Given the description of an element on the screen output the (x, y) to click on. 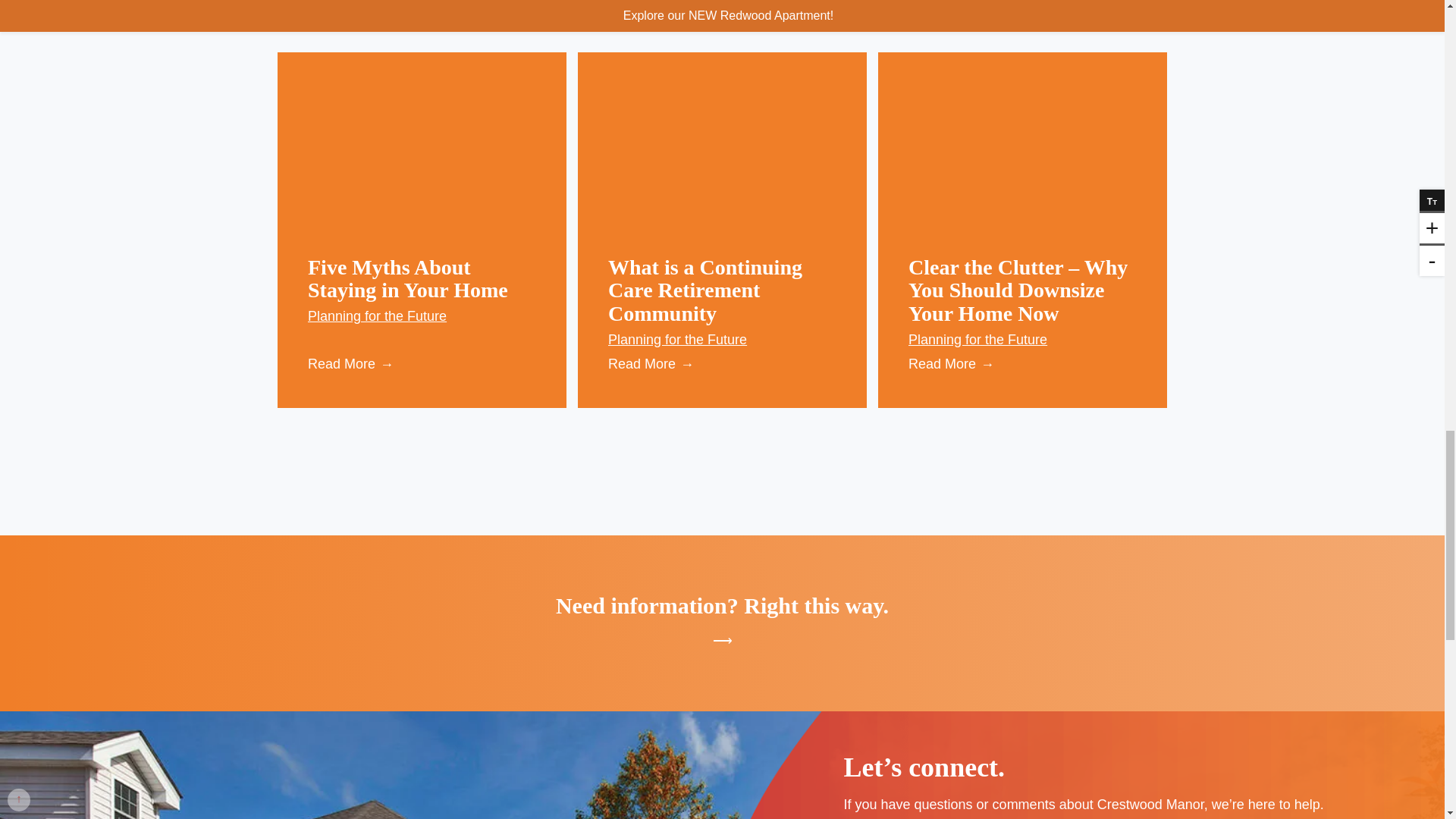
Planning for the Future (1022, 340)
Planning for the Future (721, 340)
More about: Five Myths About Staying in Your Home (407, 278)
More about: What is a Continuing Care Retirement Community (705, 290)
Planning for the Future (421, 316)
